Given the description of an element on the screen output the (x, y) to click on. 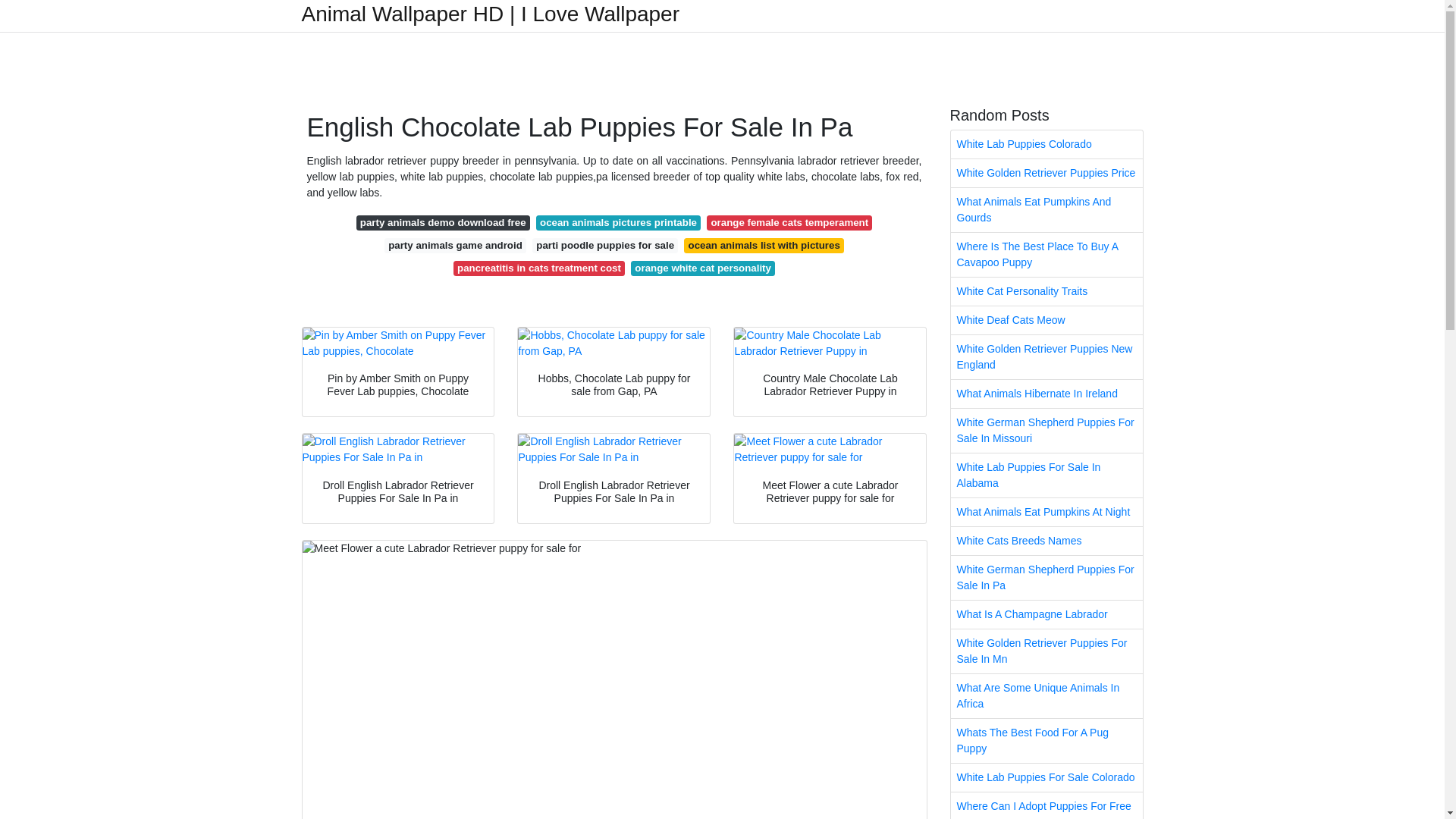
White Golden Retriever Puppies New England (1046, 356)
What Animals Eat Pumpkins And Gourds (1046, 209)
Where Is The Best Place To Buy A Cavapoo Puppy (1046, 254)
party animals demo download free (442, 222)
What Animals Hibernate In Ireland (1046, 393)
pancreatitis in cats treatment cost (538, 268)
ocean animals list with pictures (764, 245)
party animals game android (454, 245)
White German Shepherd Puppies For Sale In Missouri (1046, 430)
White Lab Puppies Colorado (1046, 144)
